Given the description of an element on the screen output the (x, y) to click on. 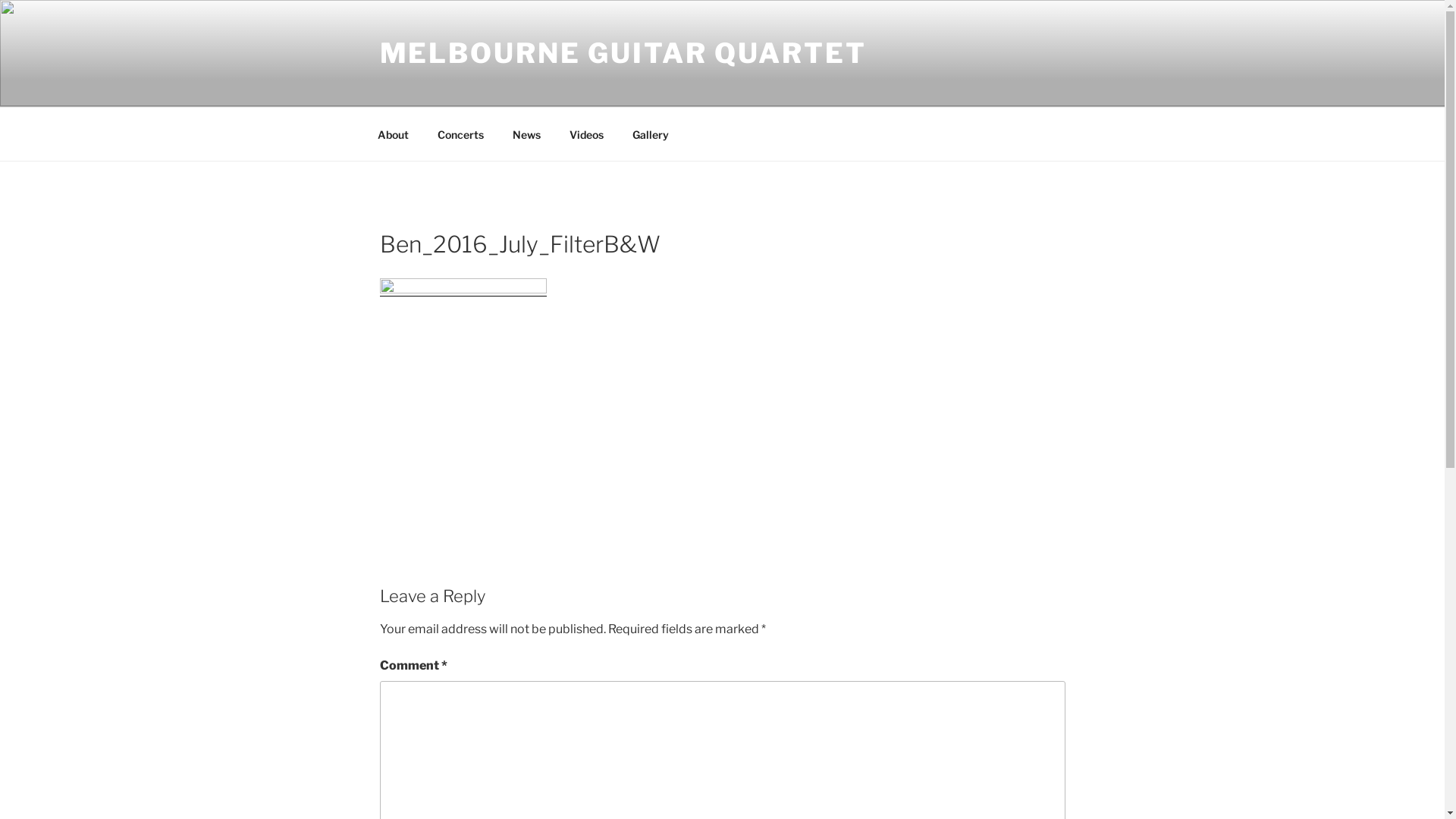
Concerts Element type: text (460, 133)
News Element type: text (525, 133)
About Element type: text (392, 133)
Gallery Element type: text (649, 133)
MELBOURNE GUITAR QUARTET Element type: text (622, 52)
Videos Element type: text (586, 133)
